Given the description of an element on the screen output the (x, y) to click on. 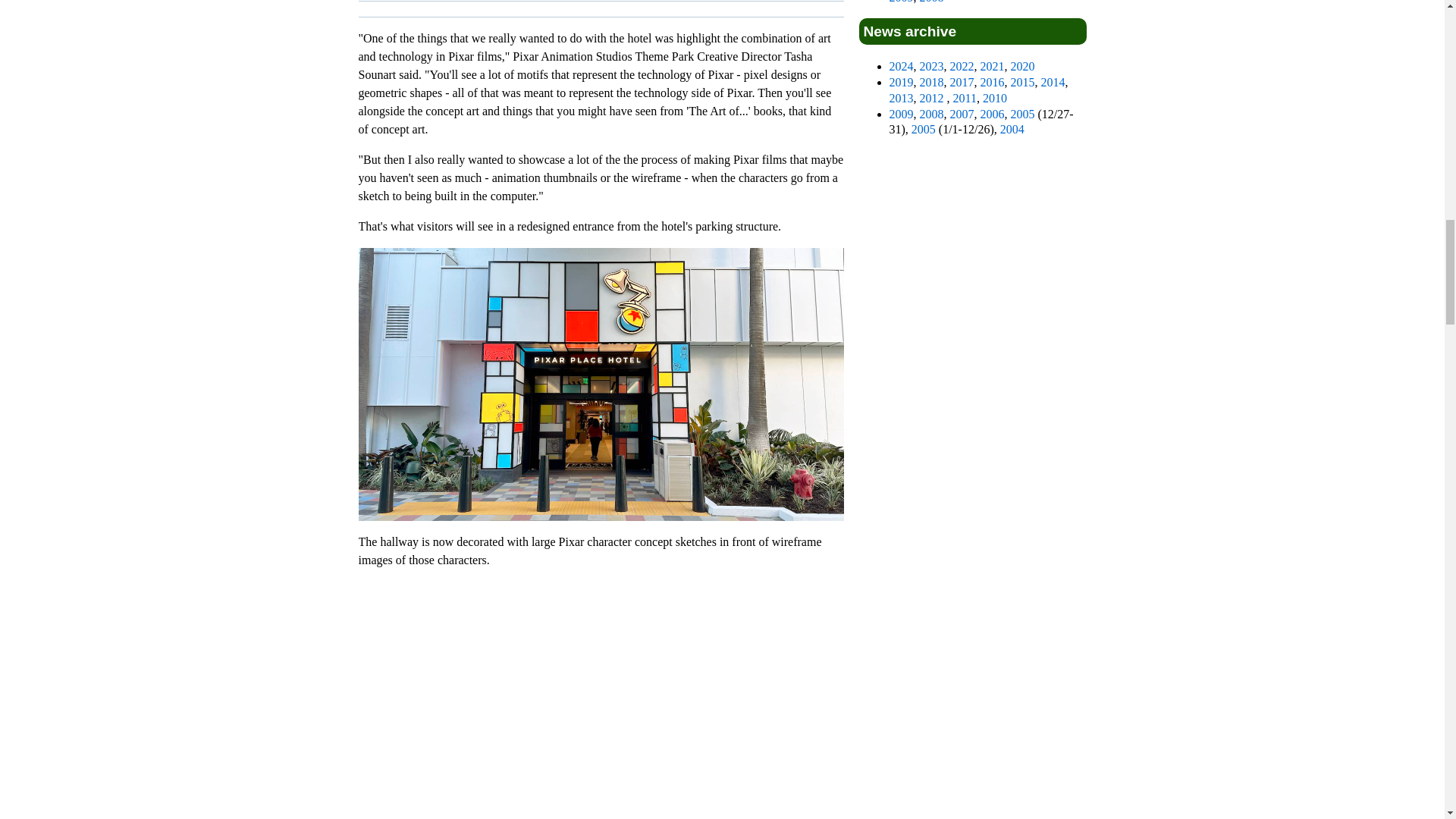
YouTube video player (600, 700)
